Given the description of an element on the screen output the (x, y) to click on. 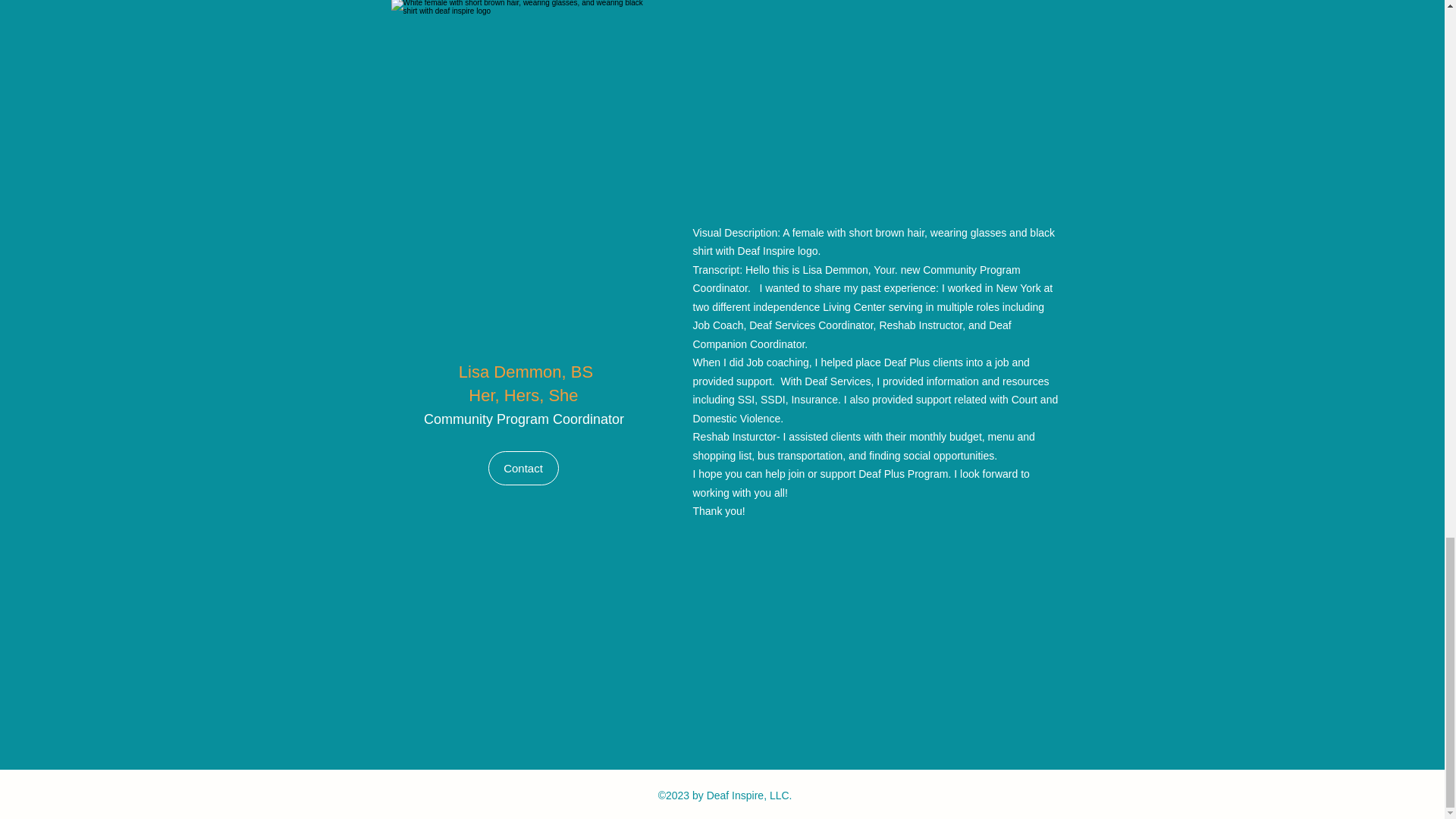
Contact (523, 468)
